Given the description of an element on the screen output the (x, y) to click on. 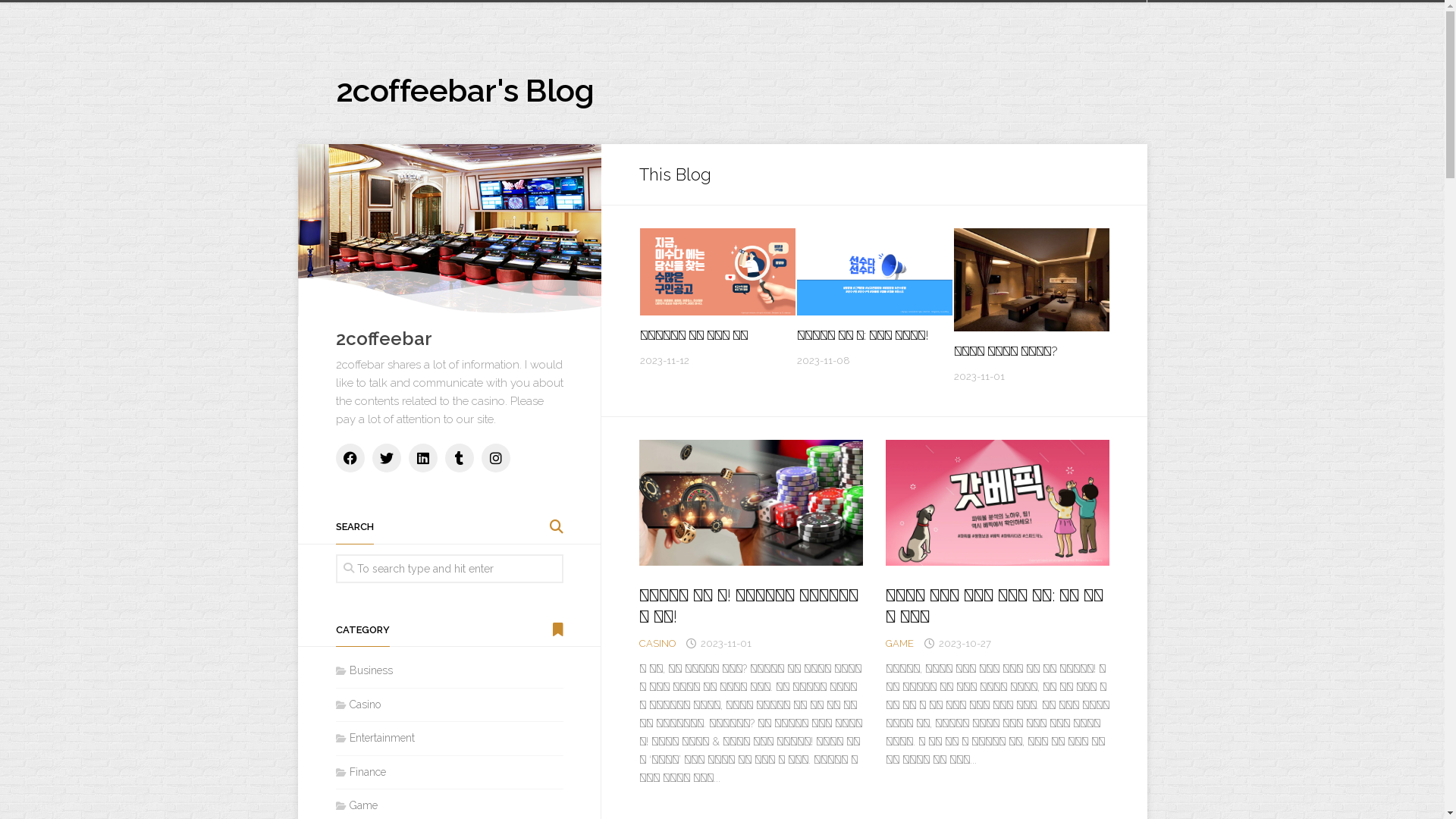
Casino Element type: text (357, 703)
Business Element type: text (363, 670)
2coffeebar's Blog Element type: text (464, 90)
twitter Element type: hover (385, 457)
instagram Element type: hover (494, 457)
tumblr Element type: hover (458, 457)
CASINO Element type: text (656, 643)
Finance Element type: text (360, 771)
facebook Element type: hover (349, 457)
GAME Element type: text (899, 643)
Game Element type: text (355, 805)
Entertainment Element type: text (374, 737)
linkedin Element type: hover (421, 457)
